Given the description of an element on the screen output the (x, y) to click on. 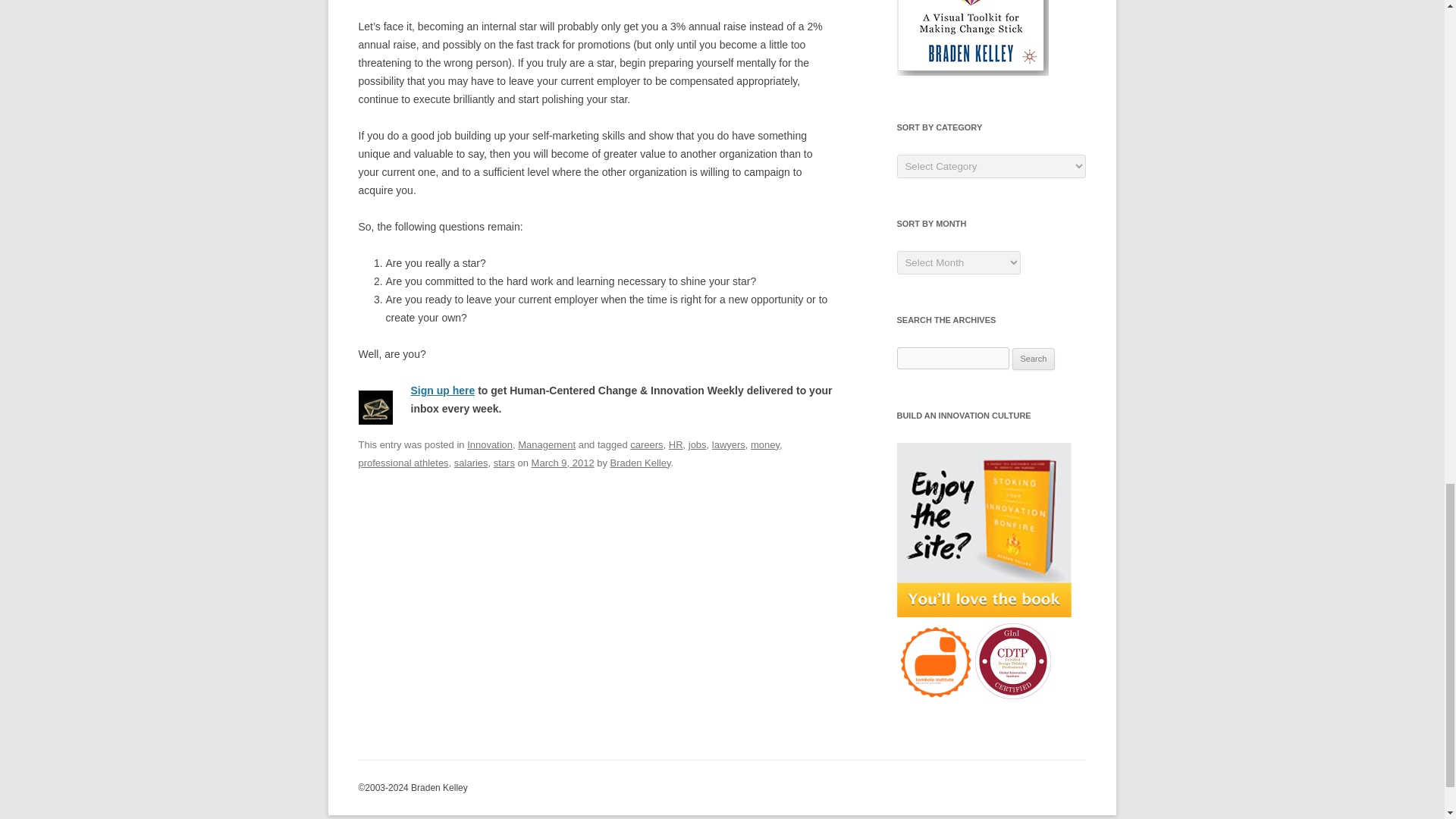
Order your copy of 'Charting Change' (972, 38)
Search (1033, 359)
8:06 am (562, 462)
View all posts by Braden Kelley (640, 462)
Get your copy of 'Stoking Your Innovation Bonfire' (983, 530)
